Given the description of an element on the screen output the (x, y) to click on. 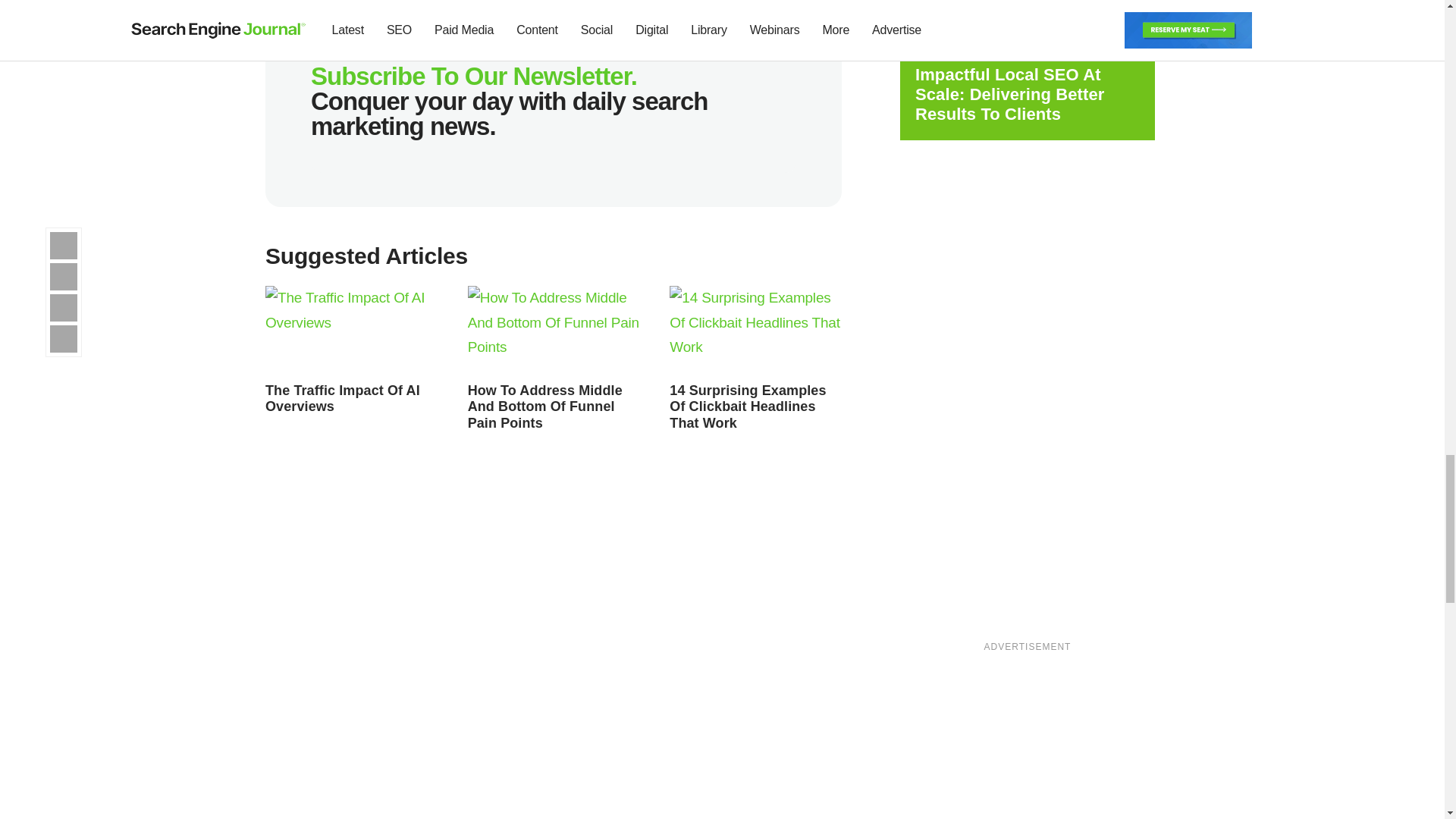
Read the Article (351, 330)
Read the Article (342, 398)
Read the Article (545, 406)
Read the Article (755, 330)
Read the Article (553, 330)
Read the Article (747, 406)
